Given the description of an element on the screen output the (x, y) to click on. 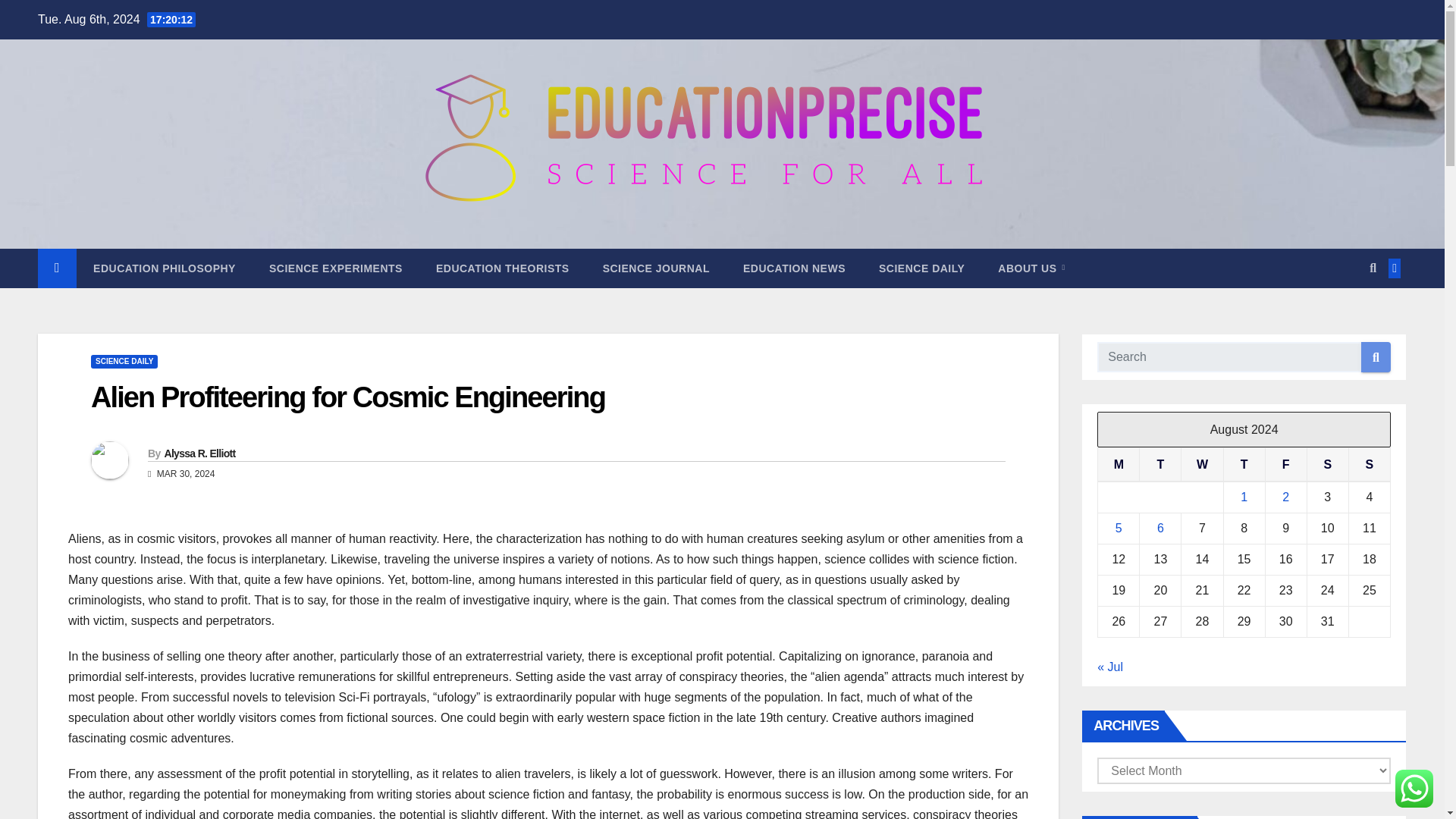
About Us (1031, 268)
SCIENCE JOURNAL (656, 268)
Education Theorists (502, 268)
Science Experiments (335, 268)
SCIENCE DAILY (921, 268)
ABOUT US (1031, 268)
Permalink to: Alien Profiteering for Cosmic Engineering (347, 397)
EDUCATION PHILOSOPHY (164, 268)
Education Philosophy (164, 268)
SCIENCE EXPERIMENTS (335, 268)
Education News (793, 268)
EDUCATION THEORISTS (502, 268)
SCIENCE DAILY (123, 361)
Alyssa R. Elliott (198, 453)
Science Daily (921, 268)
